Given the description of an element on the screen output the (x, y) to click on. 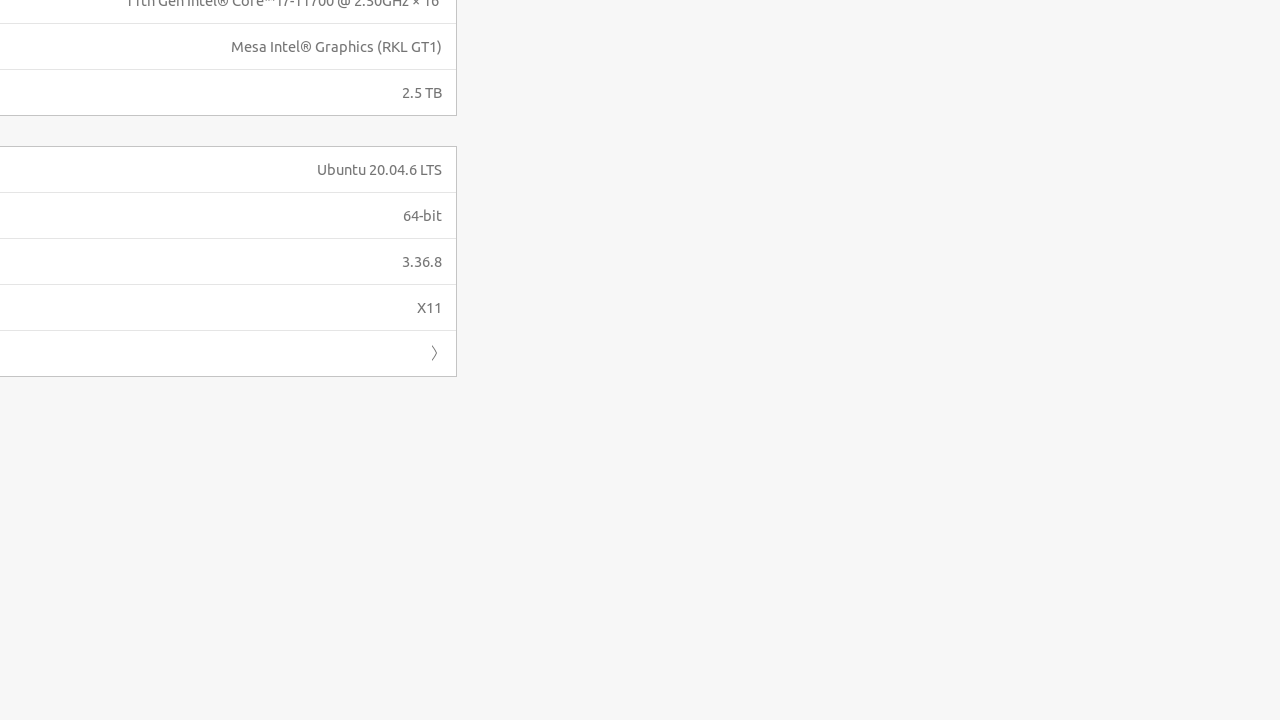
Mesa Intel® Graphics (RKL GT1) Element type: label (336, 46)
3.36.8 Element type: label (422, 261)
Forward Element type: icon (434, 353)
Ubuntu 20.04.6 LTS Element type: label (379, 169)
2.5 TB Element type: label (422, 92)
